Given the description of an element on the screen output the (x, y) to click on. 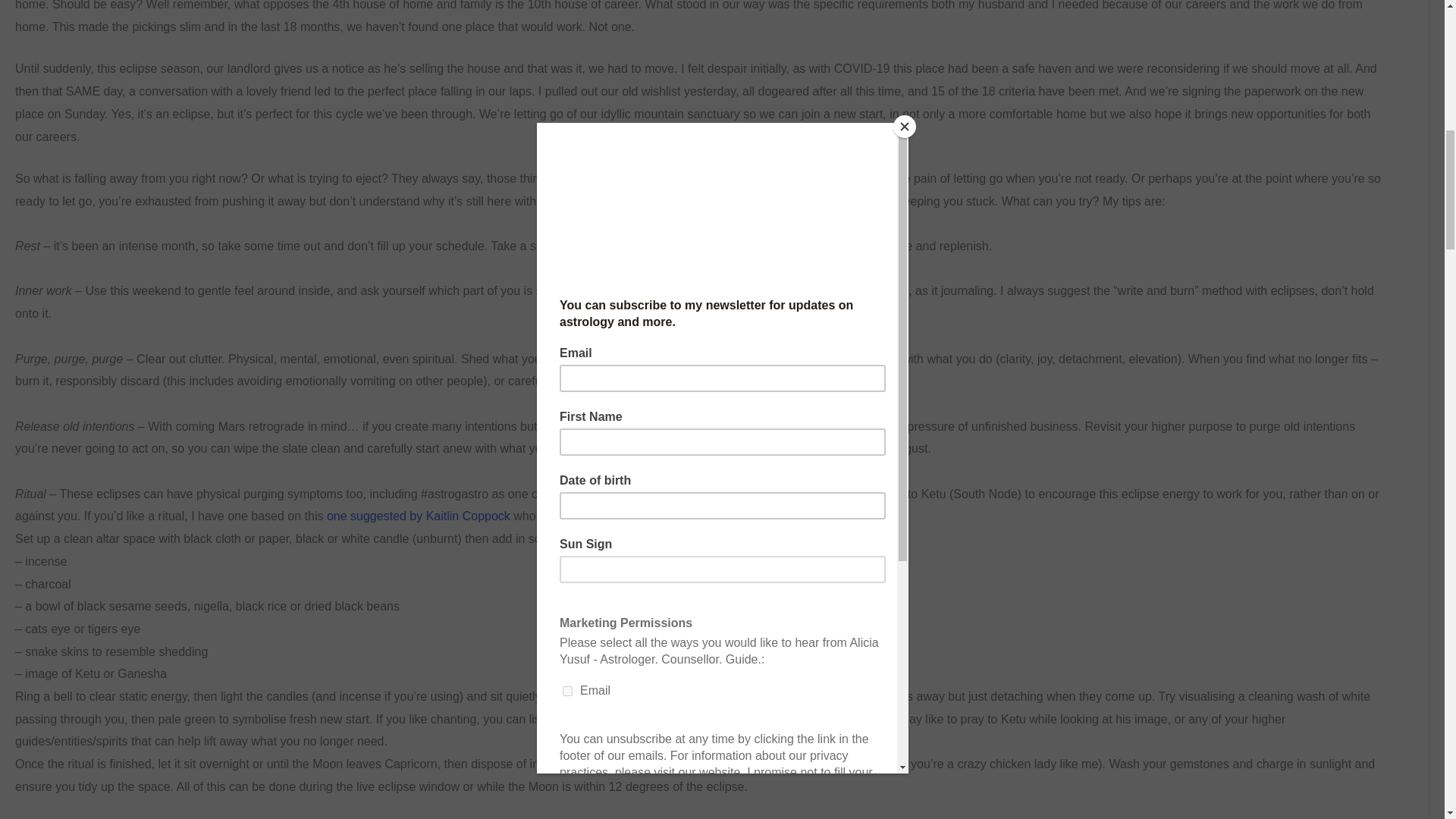
one suggested by Kaitlin Coppock (418, 515)
